Given the description of an element on the screen output the (x, y) to click on. 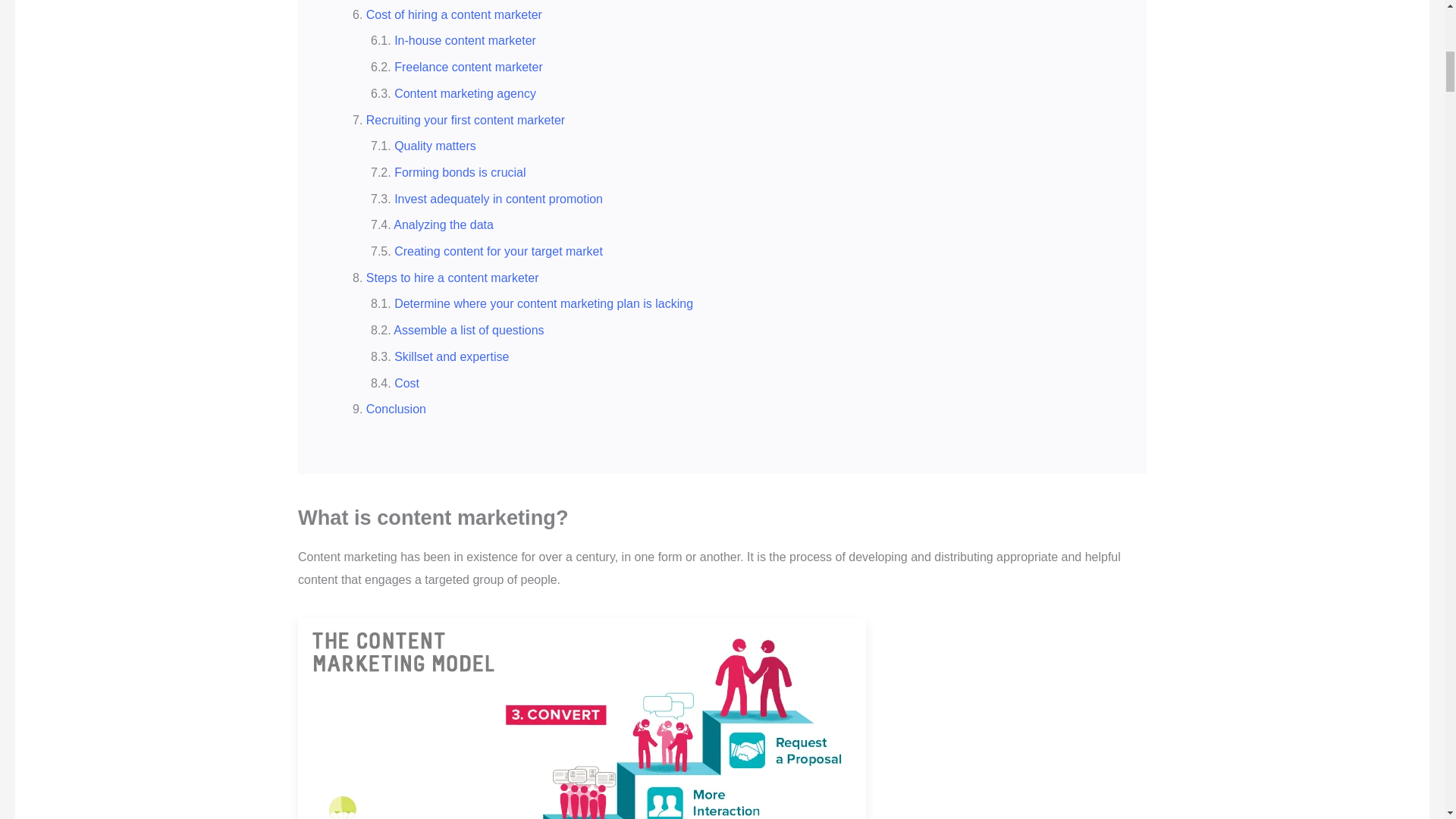
Cost of hiring a content marketer (453, 14)
Freelance content marketer (468, 66)
Content marketing agency (464, 92)
In-house content marketer (464, 40)
Recruiting your first content marketer (465, 119)
Content-Marketing-Model (582, 718)
